Given the description of an element on the screen output the (x, y) to click on. 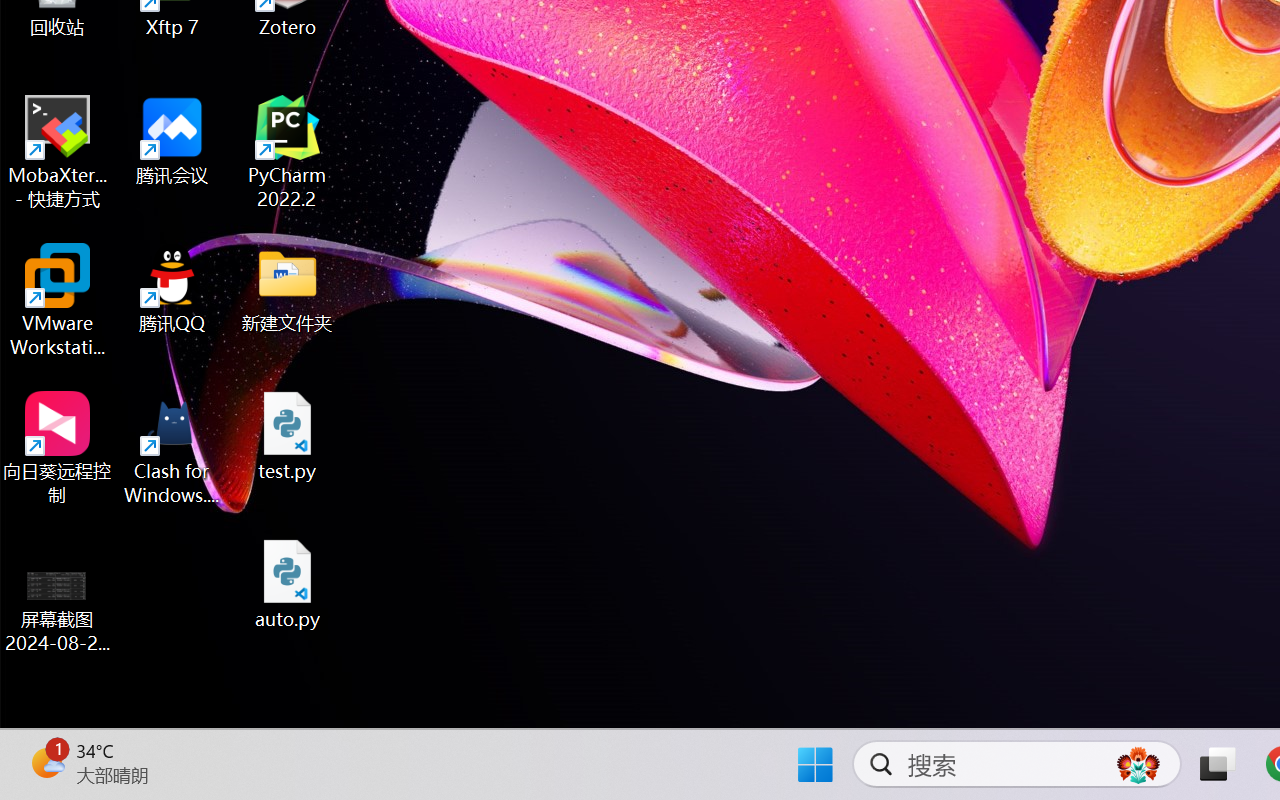
PyCharm 2022.2 (287, 152)
auto.py (287, 584)
VMware Workstation Pro (57, 300)
test.py (287, 436)
